Given the description of an element on the screen output the (x, y) to click on. 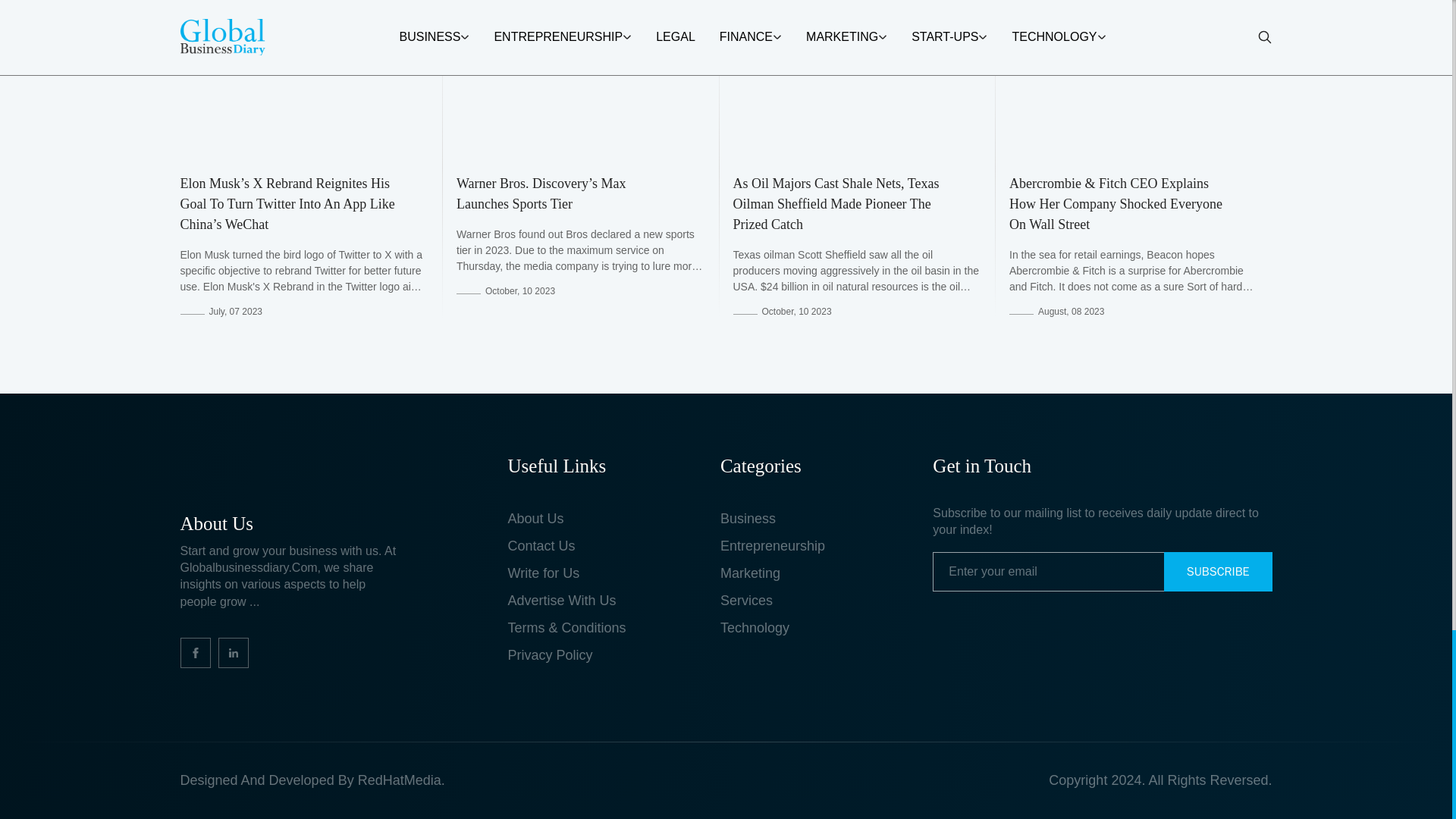
Subscribe (1217, 571)
